Given the description of an element on the screen output the (x, y) to click on. 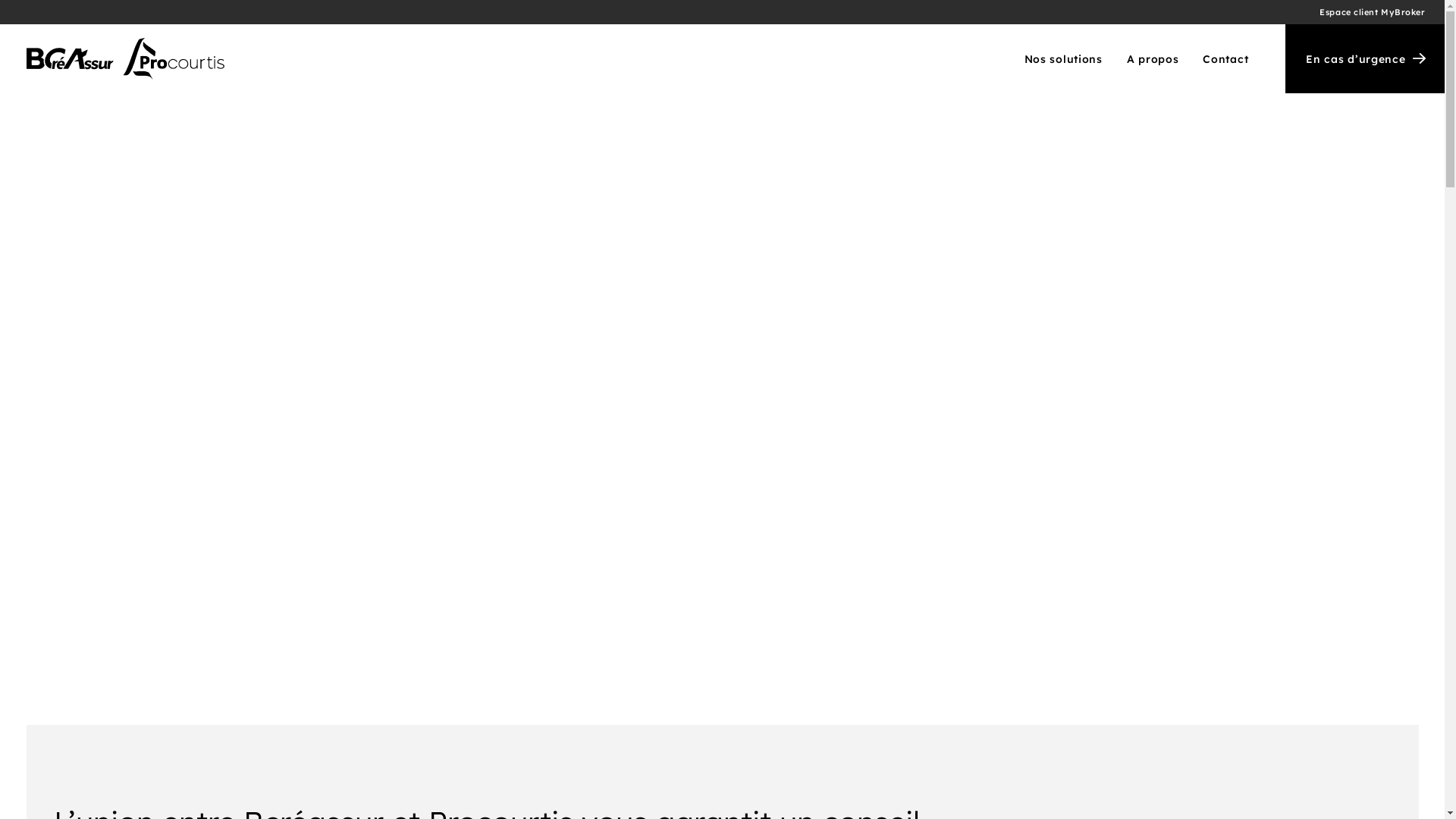
Contact Element type: text (1220, 58)
Nos solutions Element type: text (1063, 58)
A propos Element type: text (1152, 58)
Espace client MyBroker Element type: text (1371, 12)
